Given the description of an element on the screen output the (x, y) to click on. 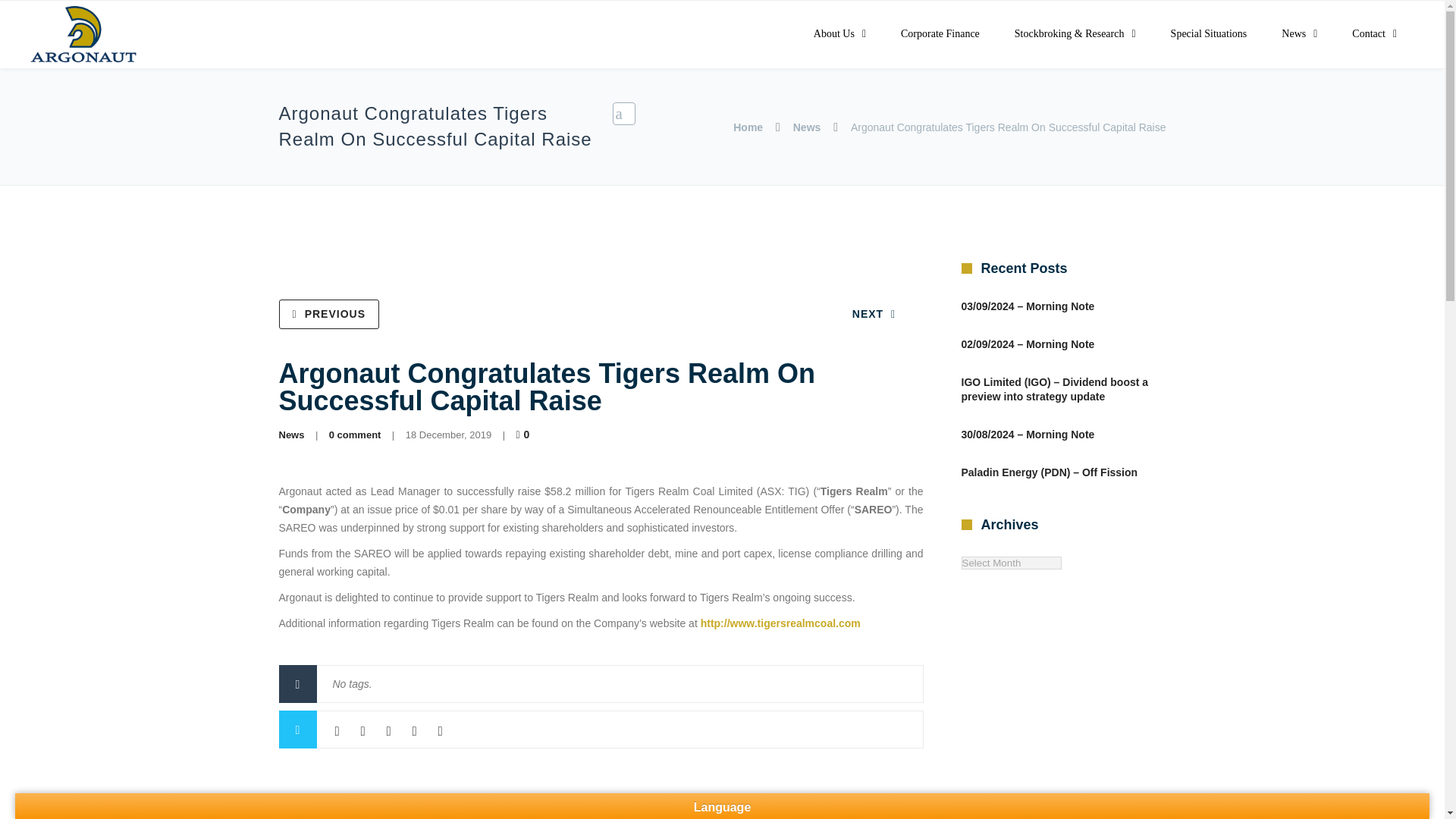
Corporate Finance (940, 33)
Argonaut (83, 34)
News (807, 127)
Contact (1374, 33)
Home (747, 127)
NEXT (874, 314)
Like this (523, 434)
0  (523, 434)
